Given the description of an element on the screen output the (x, y) to click on. 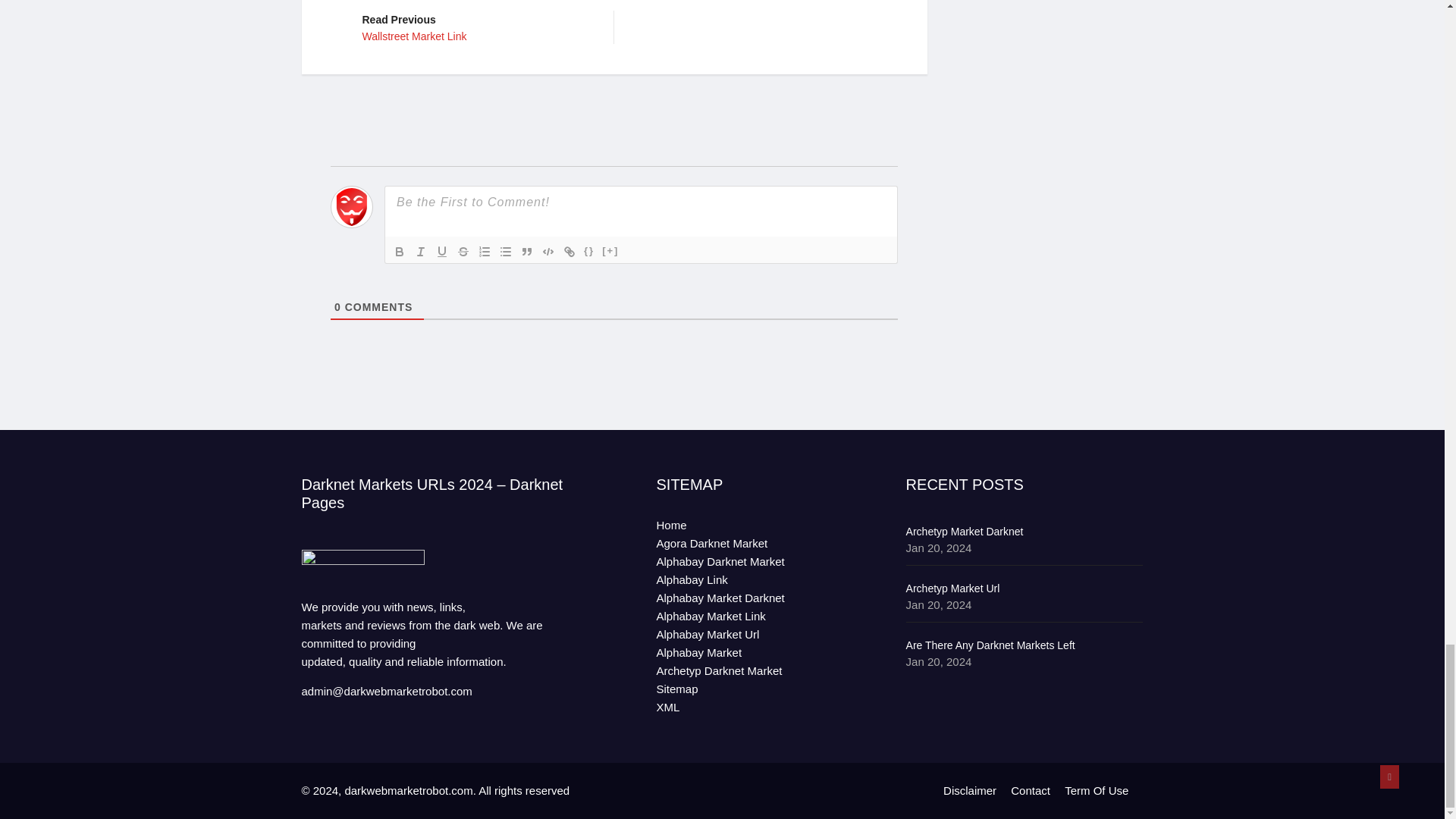
Italic (420, 251)
Blockquote (526, 251)
Code Block (548, 251)
Spoiler (610, 251)
Ordered List (476, 27)
Bold (484, 251)
Source Code (399, 251)
Link (588, 251)
Underline (569, 251)
